Given the description of an element on the screen output the (x, y) to click on. 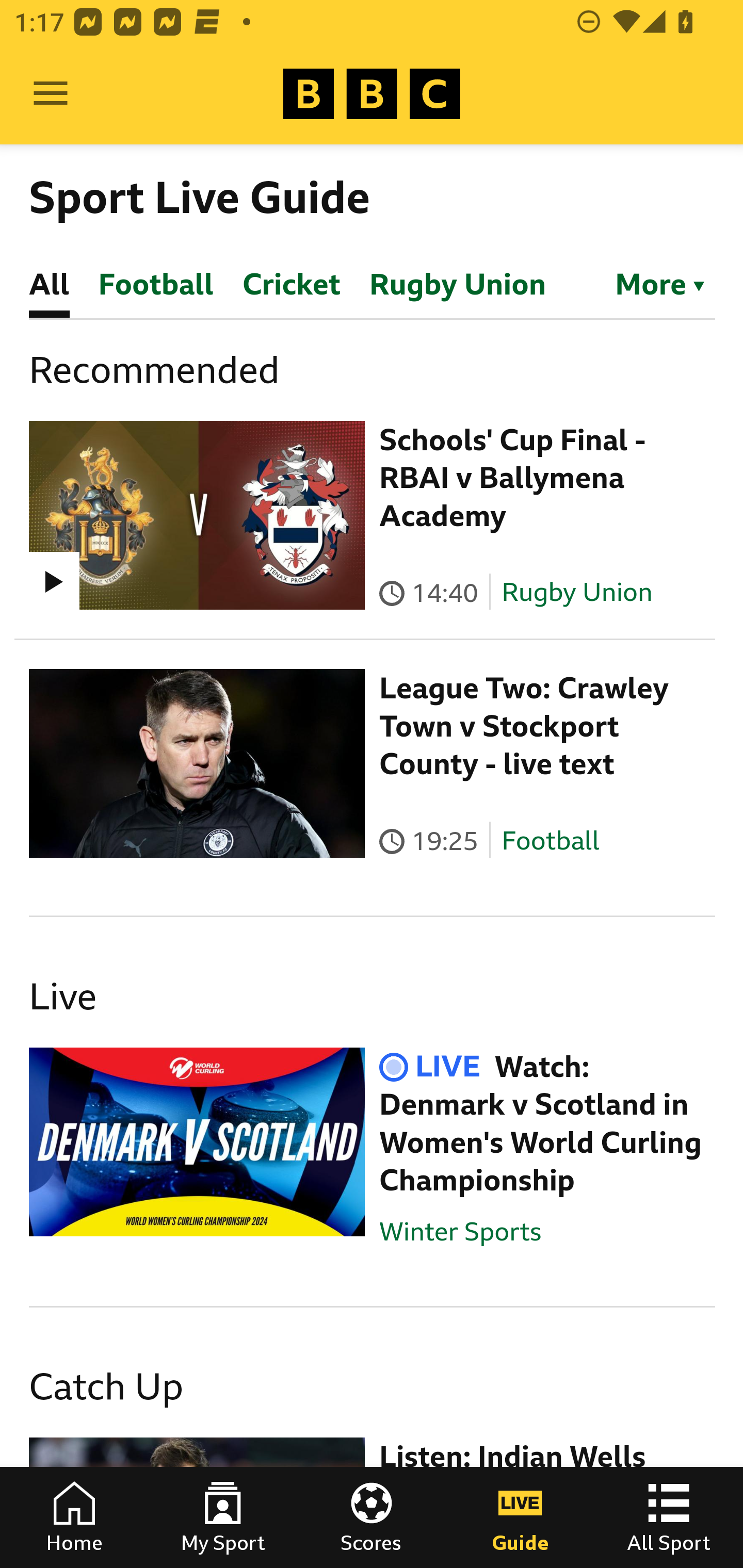
Open Menu (50, 93)
Schools' Cup Final - RBAI v Ballymena Academy (512, 477)
Rugby Union (576, 591)
Football (550, 840)
Winter Sports (459, 1230)
Home (74, 1517)
My Sport (222, 1517)
Scores (371, 1517)
All Sport (668, 1517)
